Given the description of an element on the screen output the (x, y) to click on. 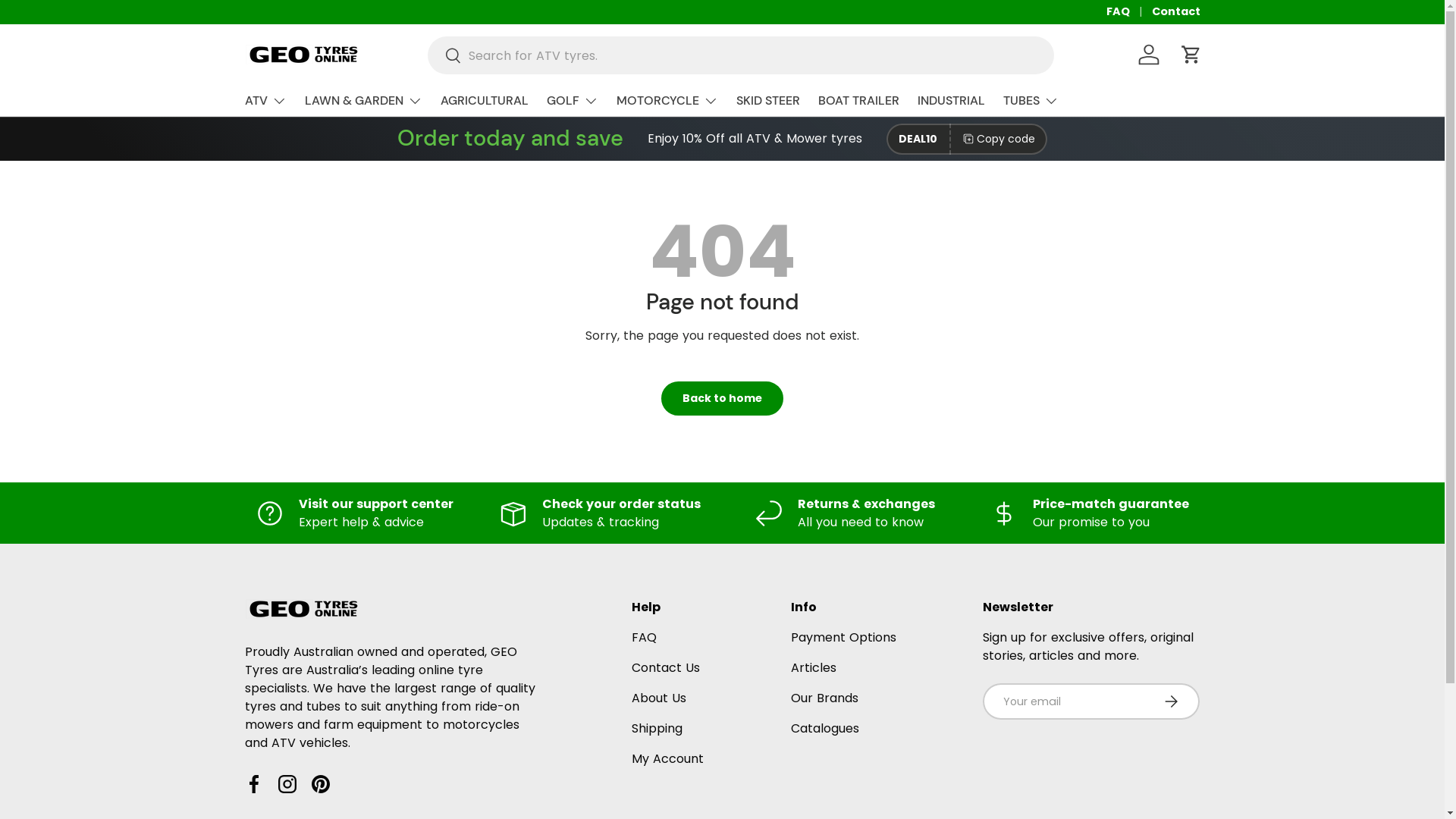
Contact Element type: text (1175, 11)
LAWN & GARDEN Element type: text (363, 100)
Facebook Element type: text (252, 783)
Articles Element type: text (813, 667)
FAQ Element type: text (1128, 11)
INDUSTRIAL Element type: text (951, 100)
SKID STEER Element type: text (767, 100)
Subscribe Element type: text (1170, 701)
Copy code Element type: text (998, 138)
ATV Element type: text (264, 100)
TUBES Element type: text (1029, 100)
Price-match guarantee
Our promise to you Element type: text (1089, 513)
Contact Us Element type: text (665, 667)
BOAT TRAILER Element type: text (857, 100)
AGRICULTURAL Element type: text (483, 100)
My Account Element type: text (667, 758)
Cart Element type: text (1190, 54)
Pinterest Element type: text (319, 783)
Log in Element type: text (1147, 54)
Search Element type: text (444, 56)
Payment Options Element type: text (843, 637)
Catalogues Element type: text (824, 728)
MOTORCYCLE Element type: text (666, 100)
Back to home Element type: text (722, 398)
Our Brands Element type: text (824, 697)
FAQ Element type: text (643, 637)
Check your order status
Updates & tracking Element type: text (599, 513)
Instagram Element type: text (286, 783)
Returns & exchanges
All you need to know Element type: text (844, 513)
GOLF Element type: text (571, 100)
Skip to content Element type: text (68, 21)
Visit our support center
Expert help & advice Element type: text (354, 513)
Shipping Element type: text (656, 728)
About Us Element type: text (658, 697)
